Given the description of an element on the screen output the (x, y) to click on. 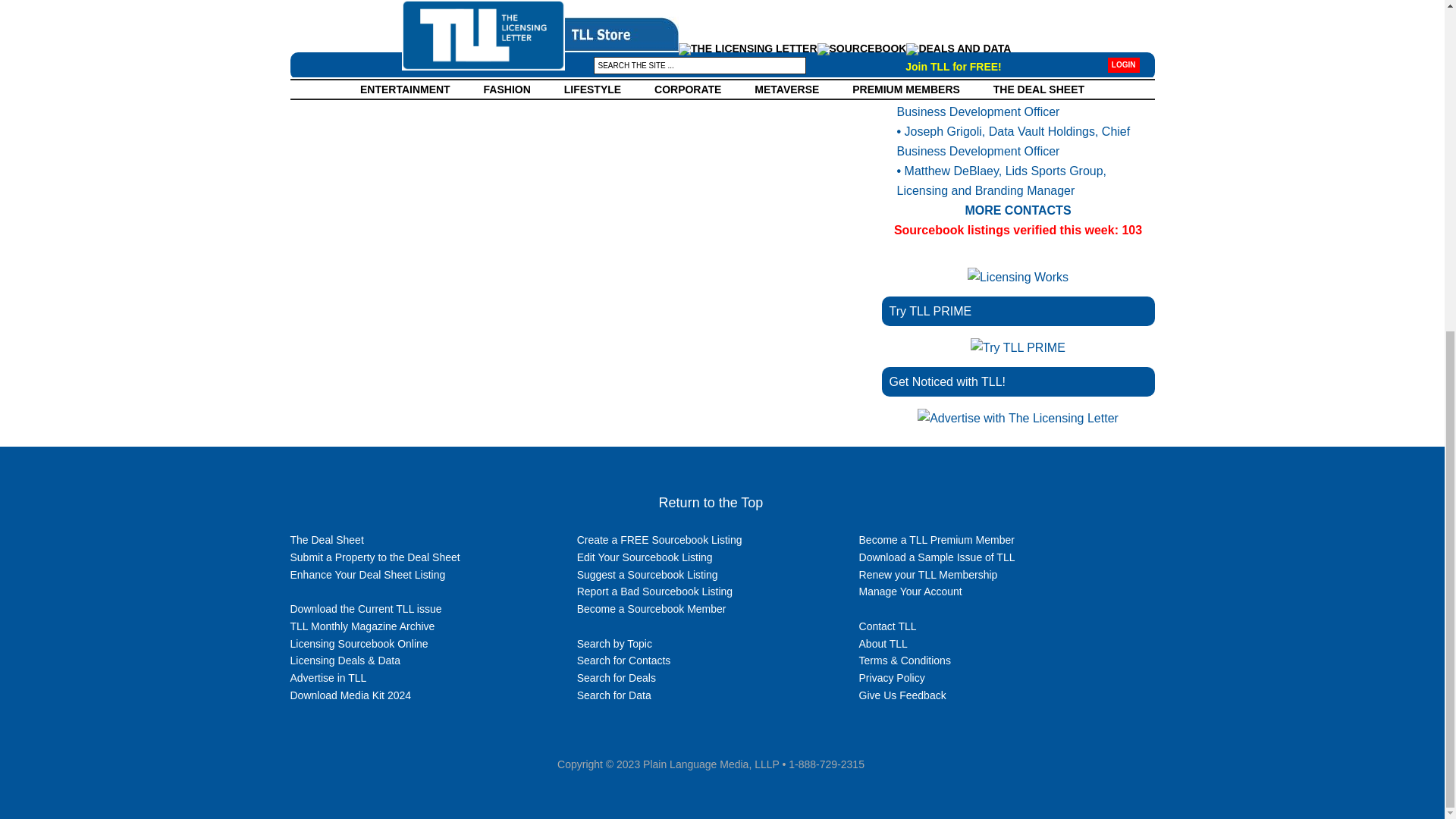
MORE CONTACTS (1016, 210)
